Given the description of an element on the screen output the (x, y) to click on. 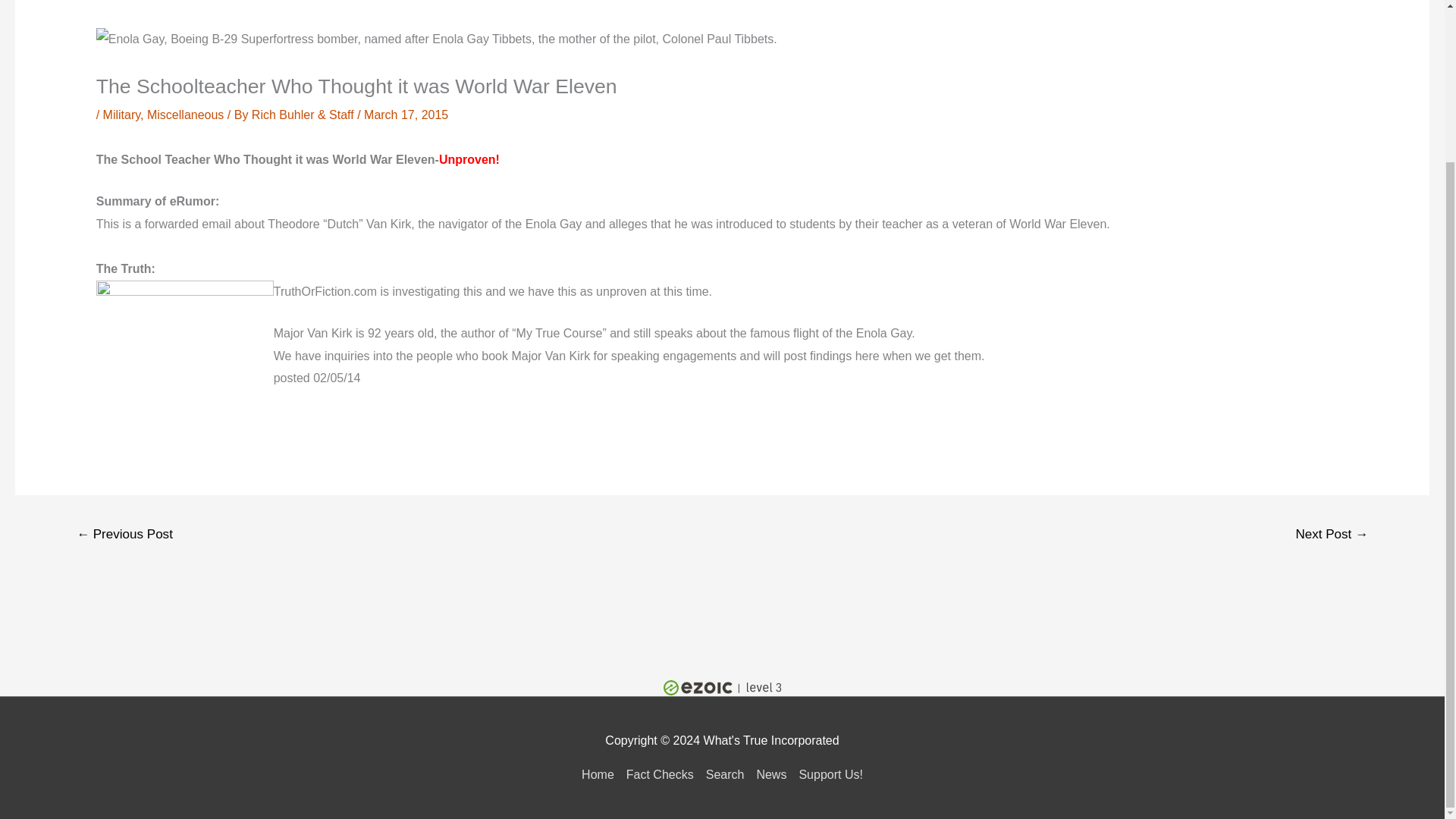
Miscellaneous (185, 114)
Fact Checks (660, 774)
Home (600, 774)
Support Us! (826, 774)
Military (121, 114)
Search (725, 774)
News (770, 774)
